Given the description of an element on the screen output the (x, y) to click on. 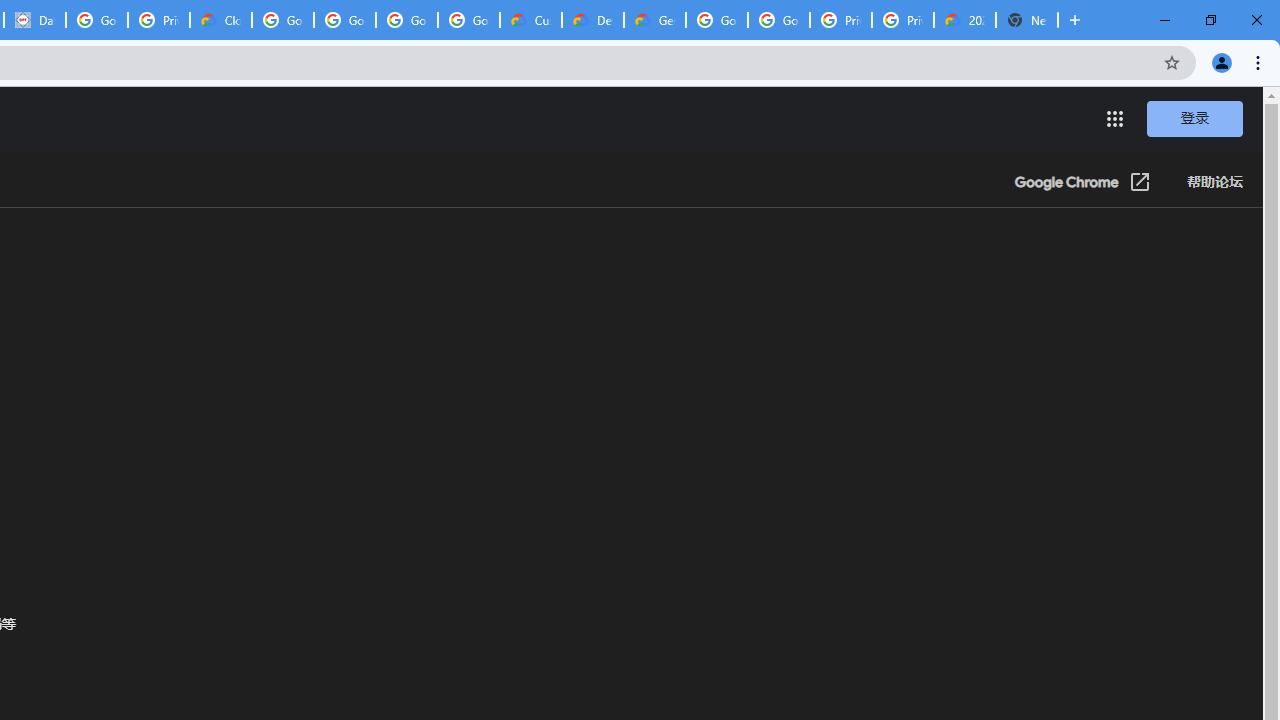
Google Workspace - Specific Terms (468, 20)
Gemini for Business and Developers | Google Cloud (654, 20)
Google Cloud Platform (716, 20)
